Given the description of an element on the screen output the (x, y) to click on. 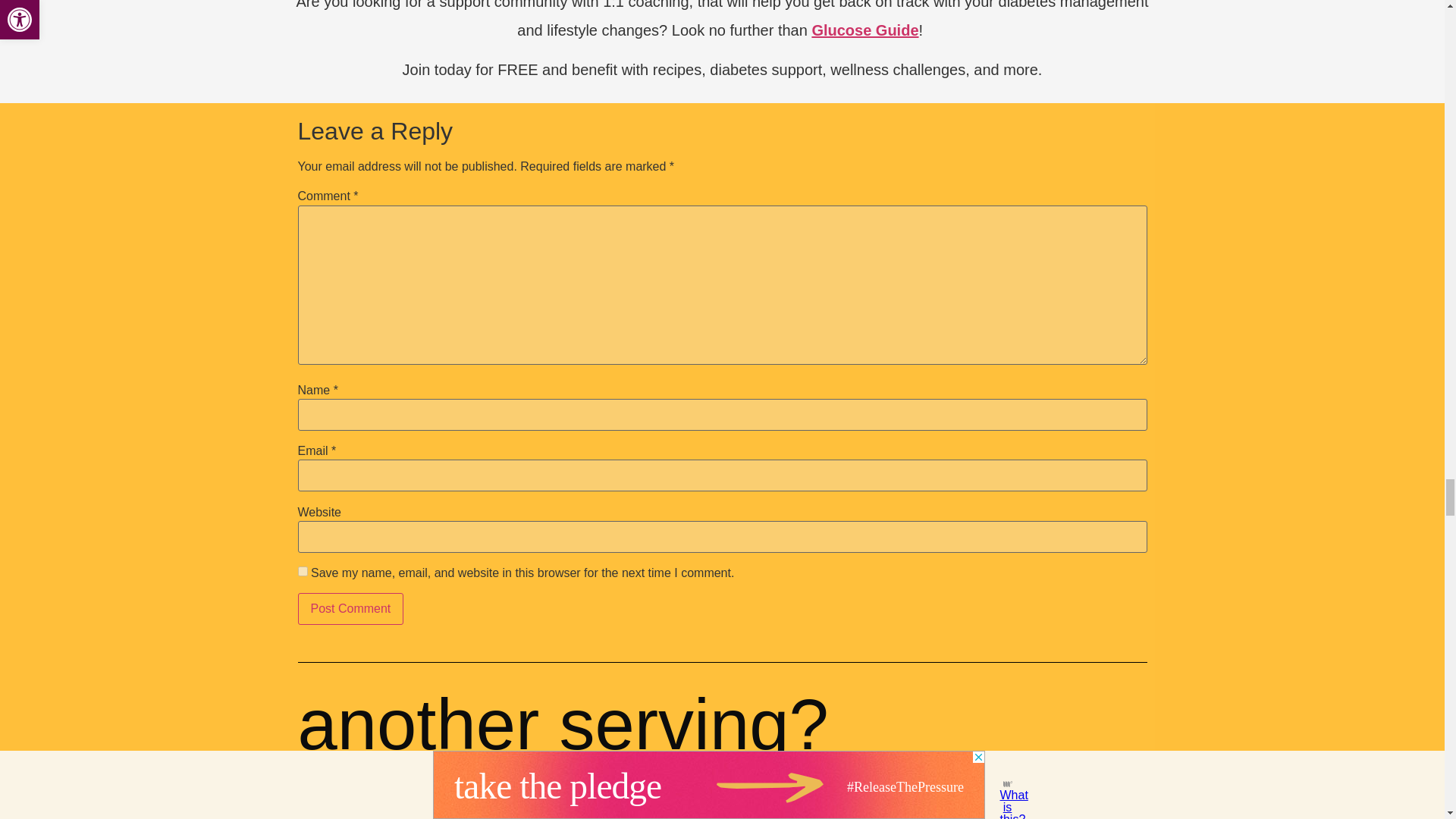
Post Comment (350, 608)
chia-seeds-nutrient-rich (721, 784)
yes (302, 571)
